Given the description of an element on the screen output the (x, y) to click on. 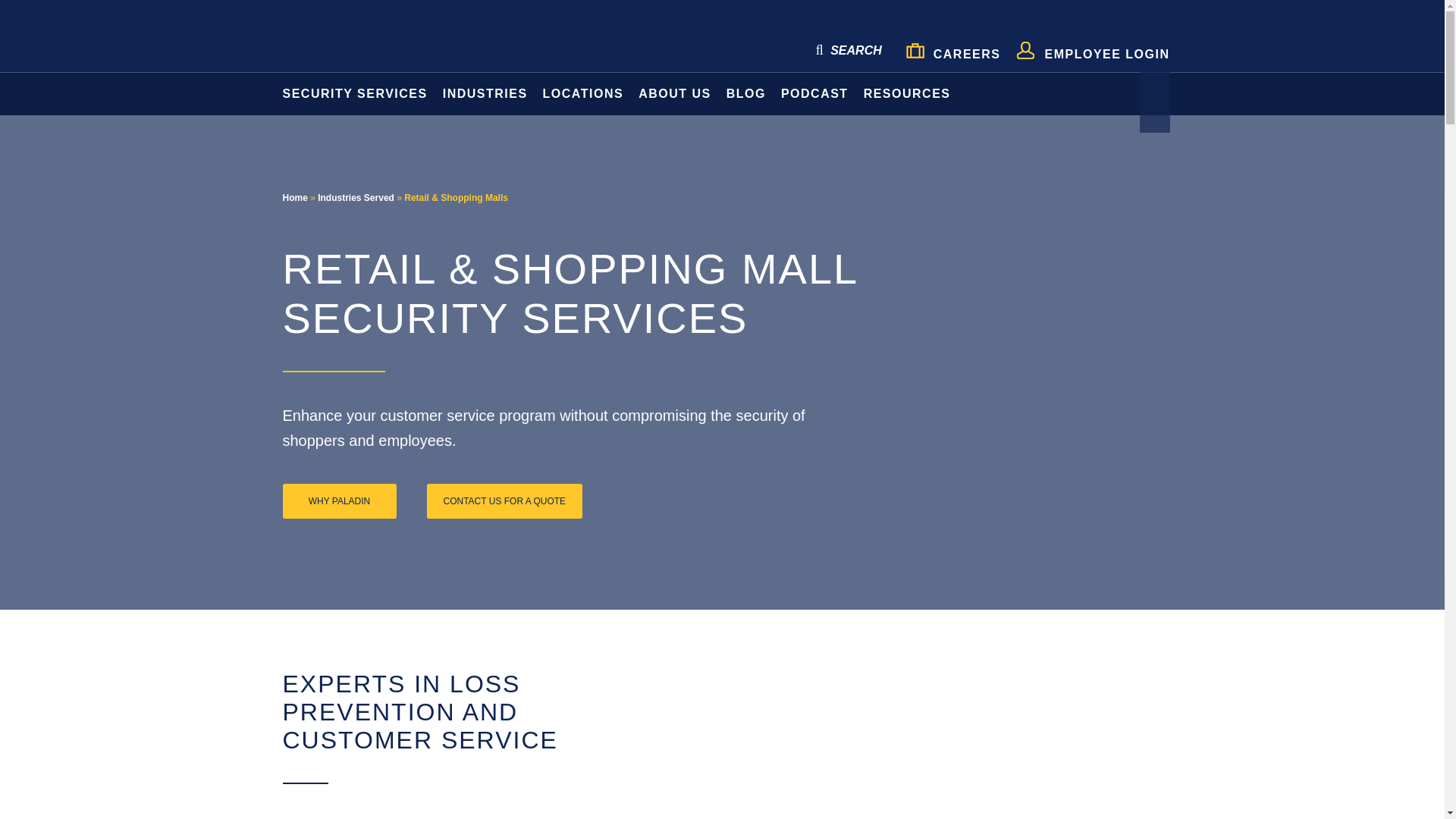
SEARCH (848, 50)
LOCATIONS (583, 93)
ABOUT US (674, 93)
SECURITY SERVICES (349, 93)
EMPLOYEE LOGIN (1091, 48)
Paladin Security (365, 39)
INDUSTRIES (485, 93)
CAREERS (952, 49)
